Given the description of an element on the screen output the (x, y) to click on. 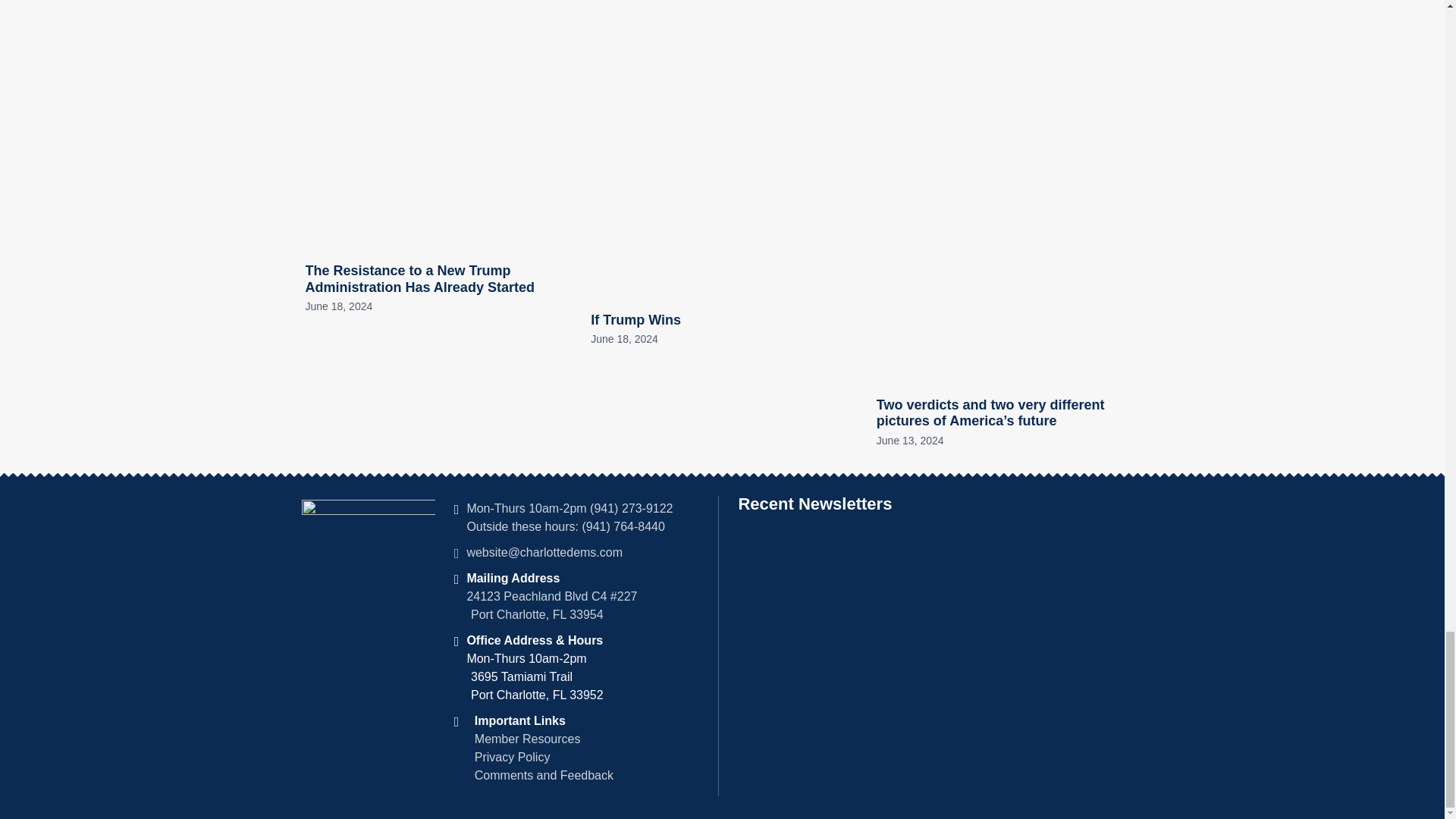
If Trump Wins (636, 319)
